Given the description of an element on the screen output the (x, y) to click on. 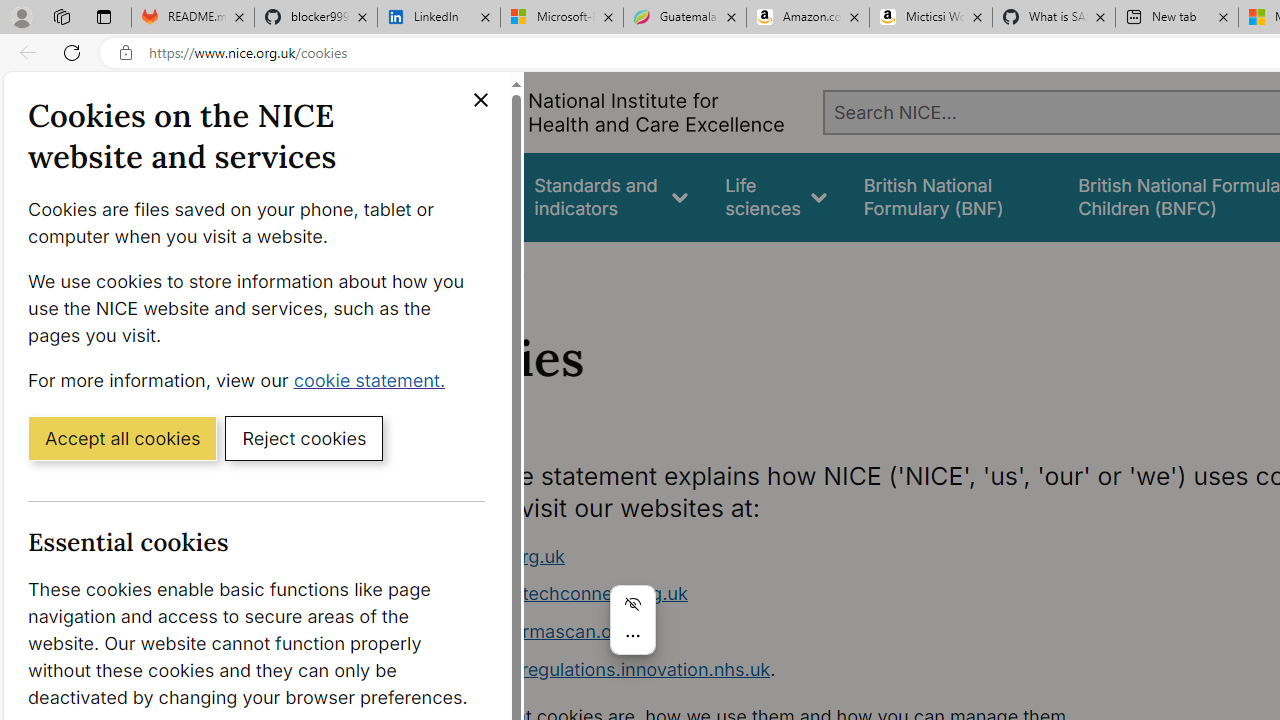
Close cookie banner (480, 99)
Hide menu (632, 603)
Life sciences (776, 196)
More actions (632, 635)
Guidance (458, 196)
LinkedIn (438, 17)
cookie statement. (Opens in a new window) (373, 379)
Guidance (458, 196)
Accept all cookies (122, 437)
